Given the description of an element on the screen output the (x, y) to click on. 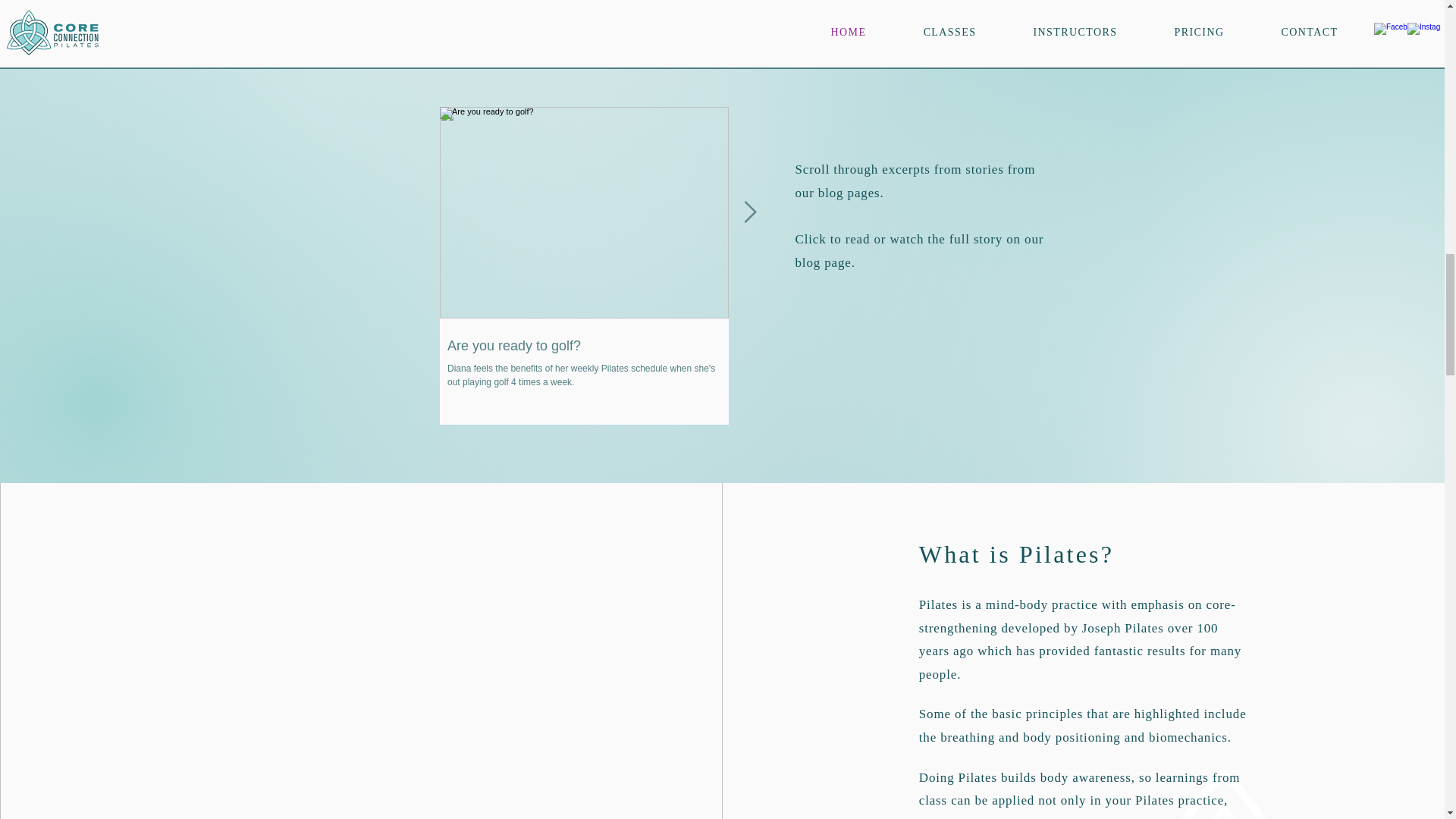
Are you ready to golf? (583, 345)
Pilates Is My Happy Place (872, 345)
